Given the description of an element on the screen output the (x, y) to click on. 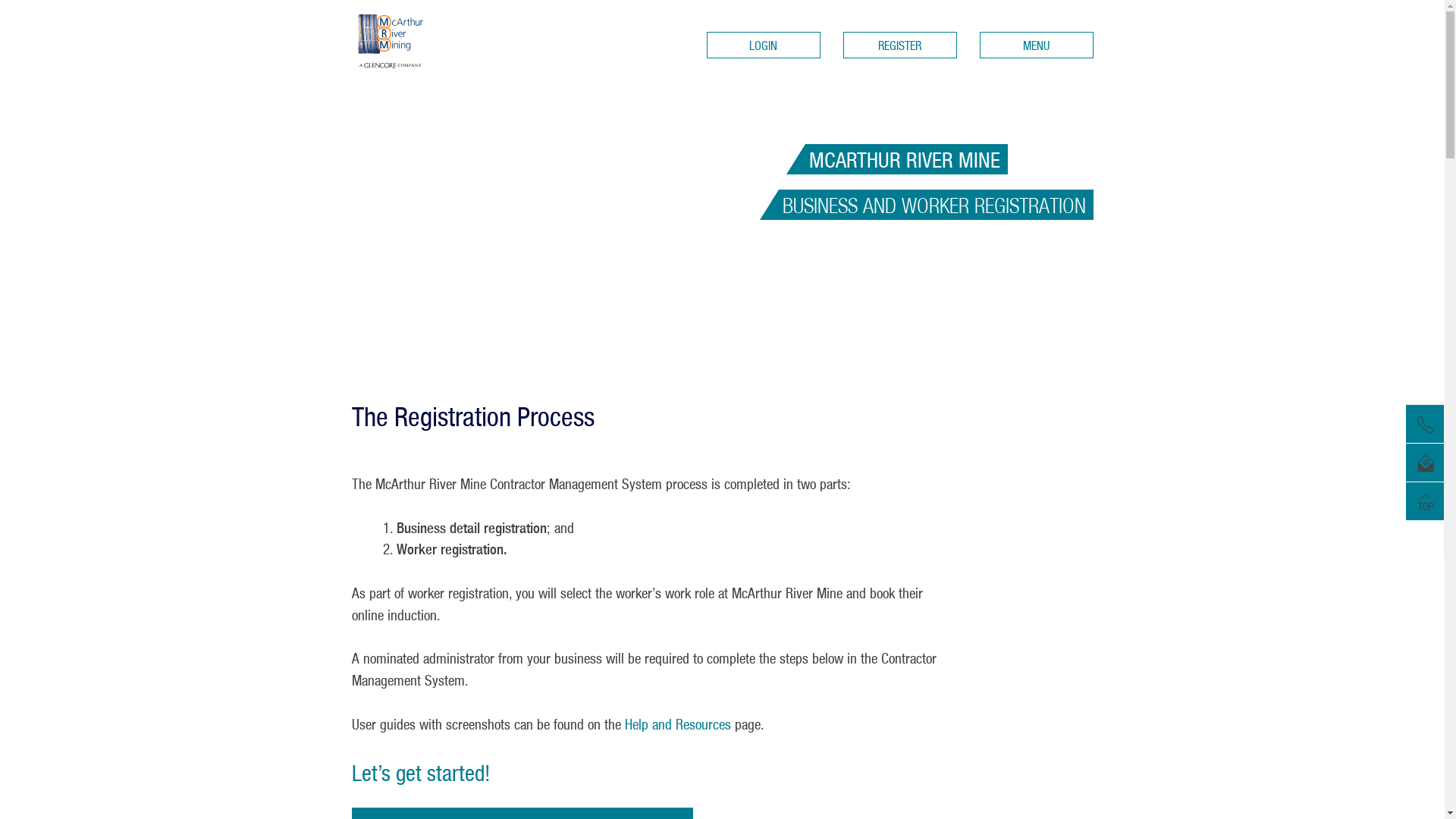
MENU Element type: text (1036, 44)
Help and Resources Element type: text (677, 723)
REGISTER Element type: text (900, 44)
Glencore Contractors Element type: text (416, 40)
LOGIN Element type: text (763, 44)
